Given the description of an element on the screen output the (x, y) to click on. 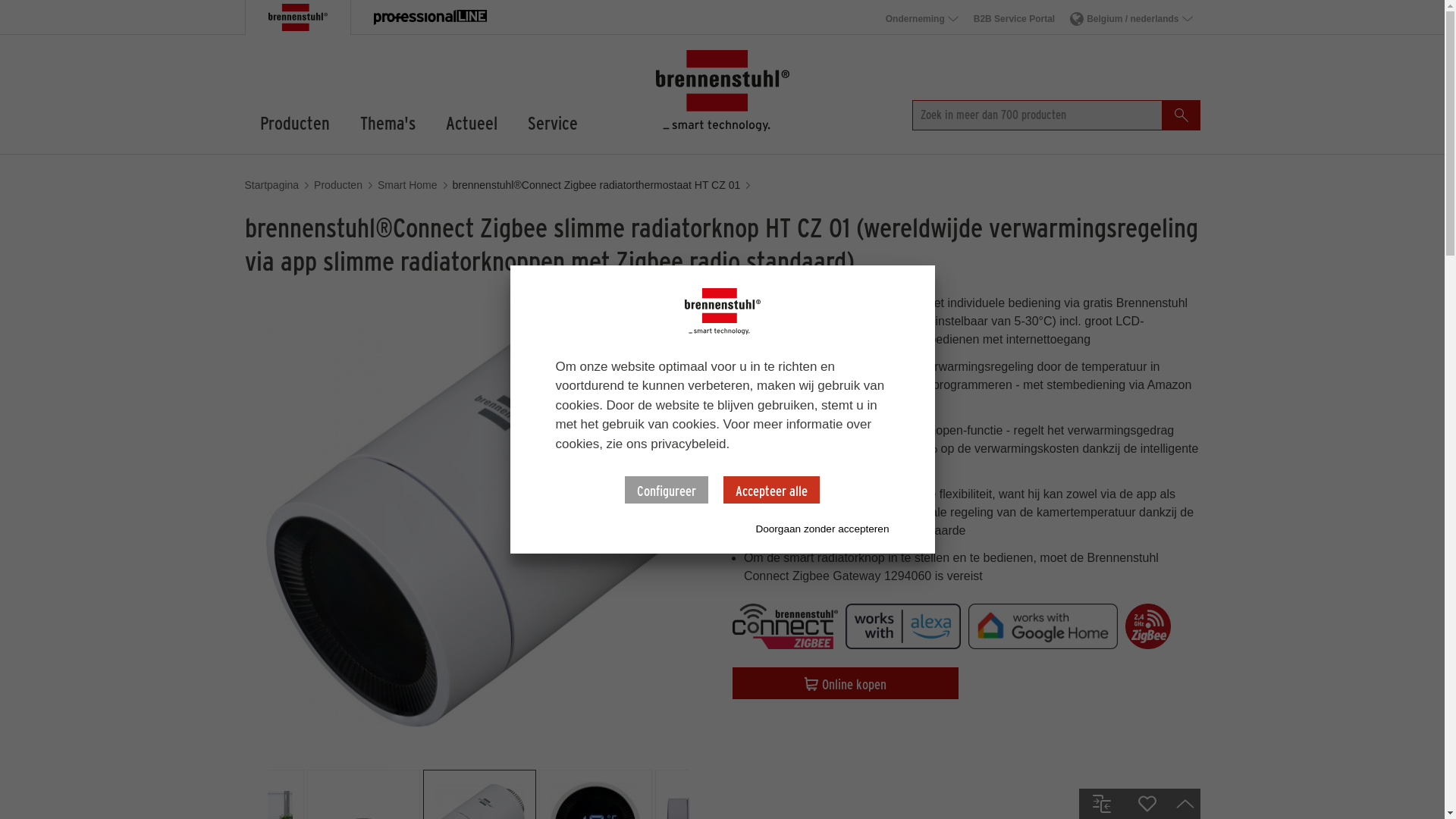
Producten Element type: text (337, 184)
Actueel Element type: text (471, 121)
Online kopen Element type: text (845, 683)
Startpagina Element type: text (271, 184)
Smart Home Element type: text (407, 184)
Doorgaan zonder accepteren Element type: text (821, 527)
Onderneming Element type: text (922, 15)
Belgium / nederlands Element type: text (1130, 15)
Service Element type: text (552, 121)
Configureer Element type: text (666, 489)
Producten Element type: text (294, 121)
B2B Service Portal Element type: text (1014, 15)
Thema's Element type: text (386, 121)
Accepteer alle Element type: text (771, 489)
